Given the description of an element on the screen output the (x, y) to click on. 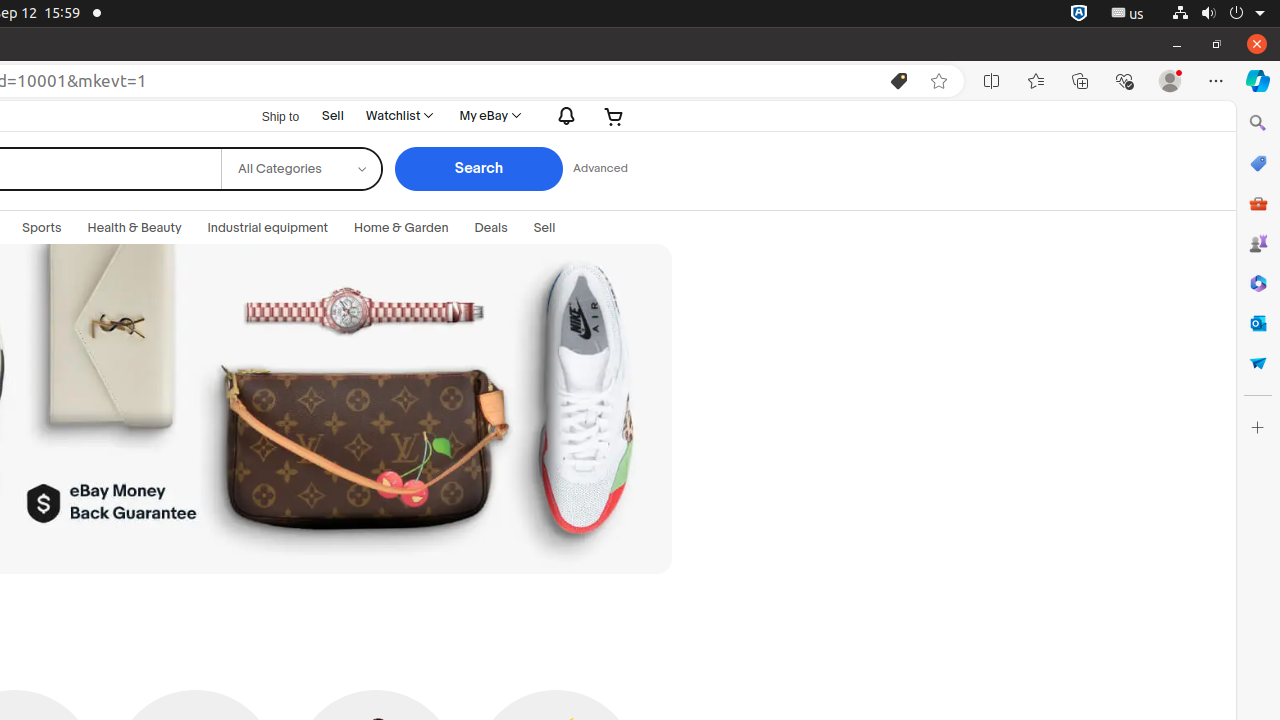
Advanced Search Element type: link (600, 169)
Tools Element type: push-button (1258, 202)
Microsoft Shopping Element type: push-button (1258, 163)
Health & Beauty Element type: link (134, 228)
Deals Element type: link (491, 228)
